Given the description of an element on the screen output the (x, y) to click on. 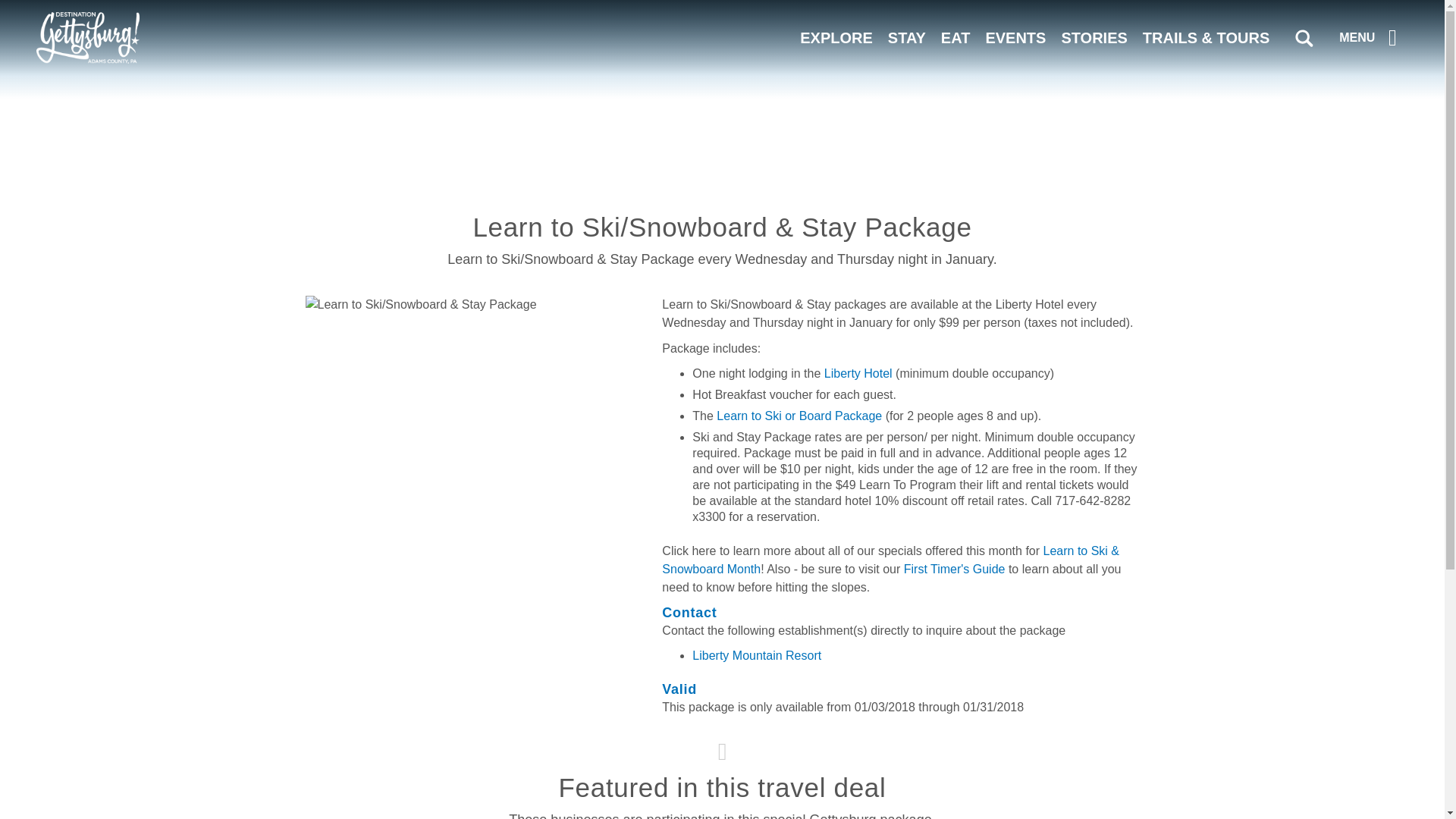
MENU (1371, 37)
STAY (907, 37)
EVENTS (1015, 37)
EXPLORE (835, 37)
STORIES (1093, 37)
EAT (955, 37)
